Given the description of an element on the screen output the (x, y) to click on. 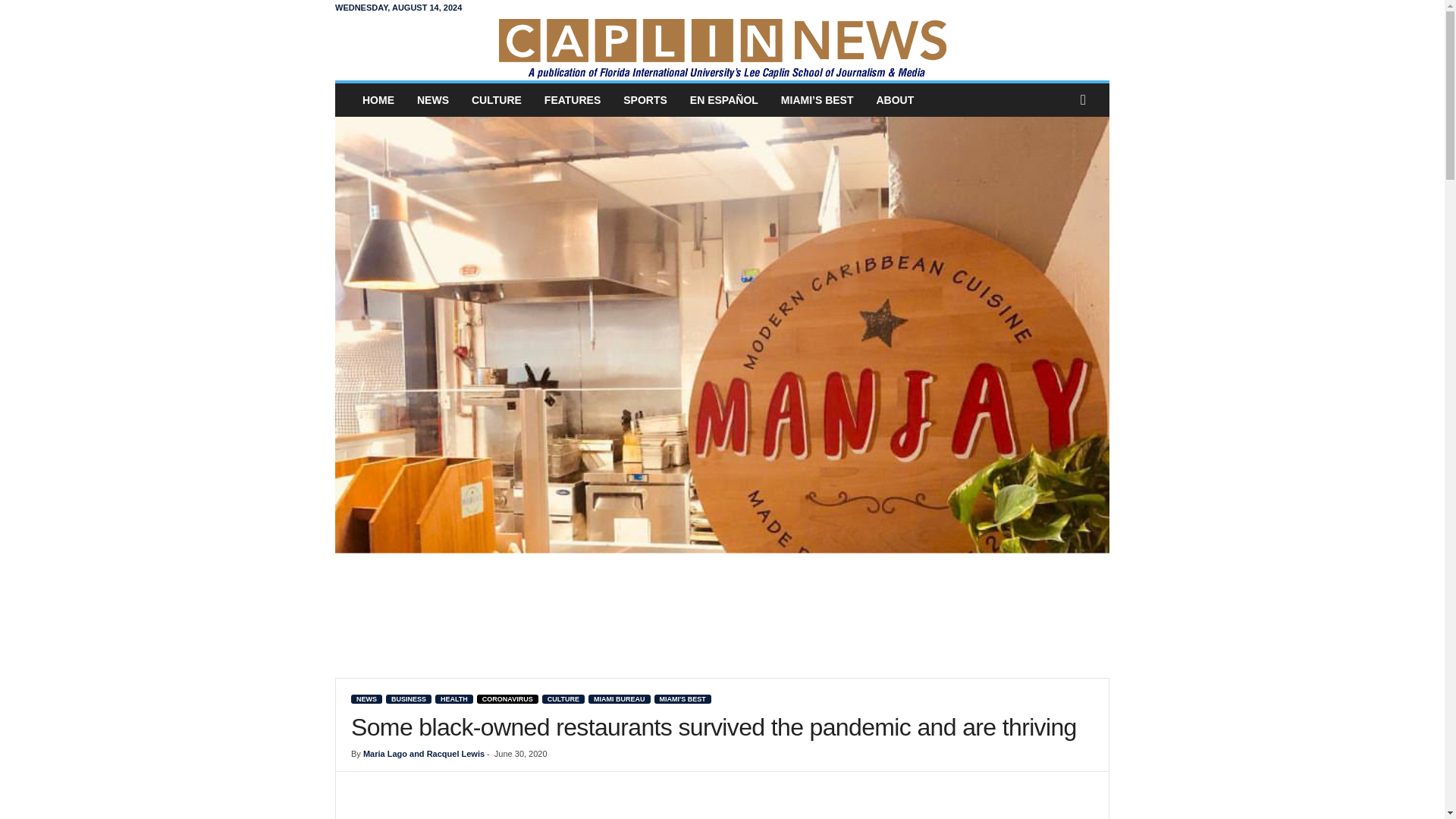
HOME (378, 100)
NEWS (433, 100)
Caplin News (721, 47)
